Given the description of an element on the screen output the (x, y) to click on. 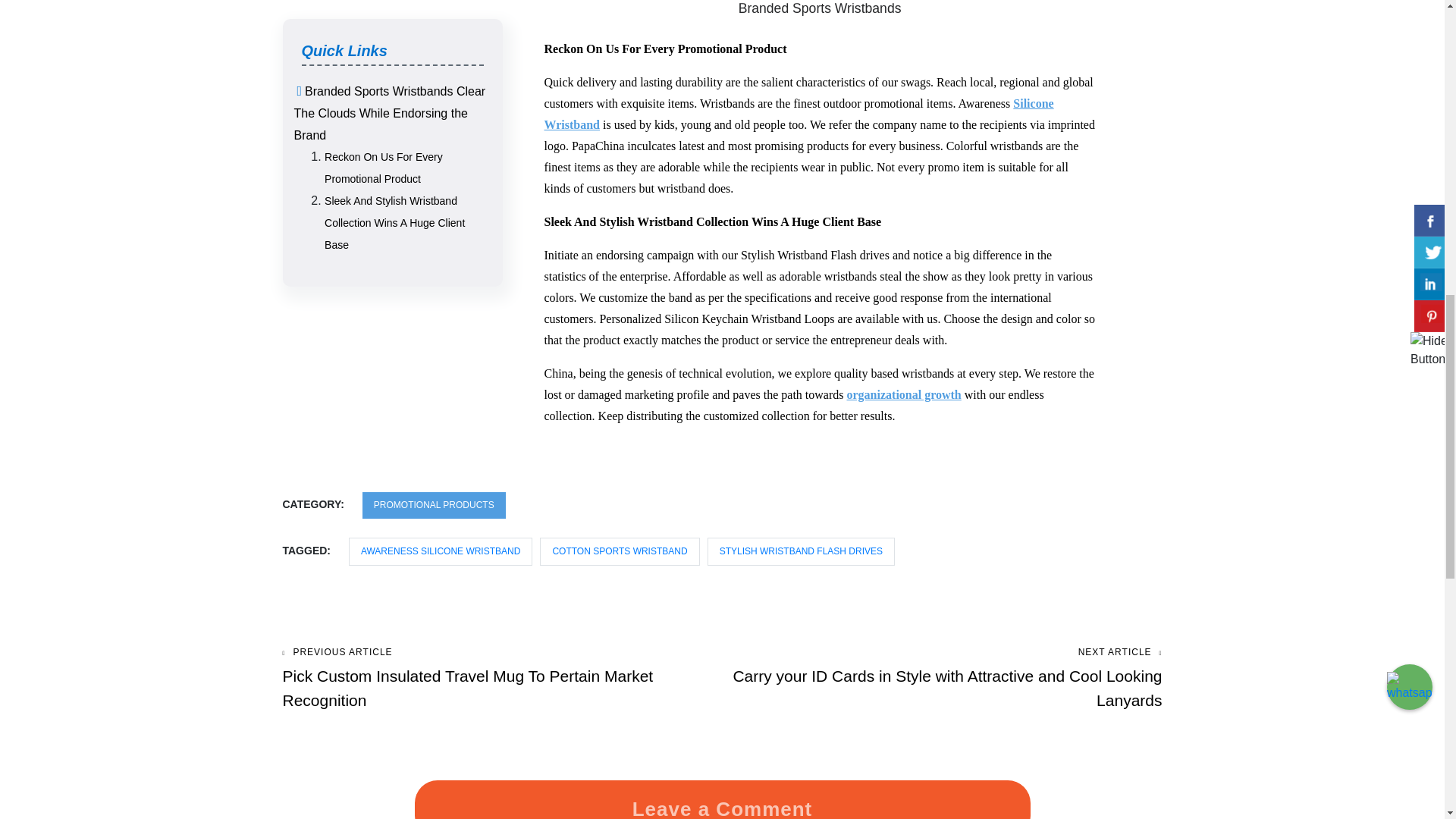
AWARENESS SILICONE WRISTBAND (440, 551)
STYLISH WRISTBAND FLASH DRIVES (801, 551)
PROMOTIONAL PRODUCTS (433, 505)
COTTON SPORTS WRISTBAND (619, 551)
Leave a Comment (721, 804)
organizational growth (902, 394)
Silicone Wristband (799, 114)
